Given the description of an element on the screen output the (x, y) to click on. 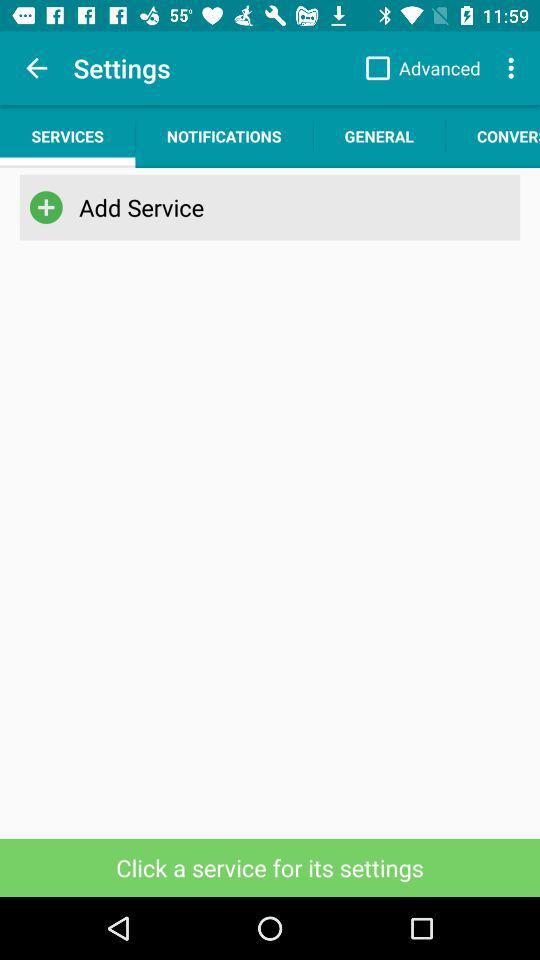
scroll until add service icon (266, 207)
